Given the description of an element on the screen output the (x, y) to click on. 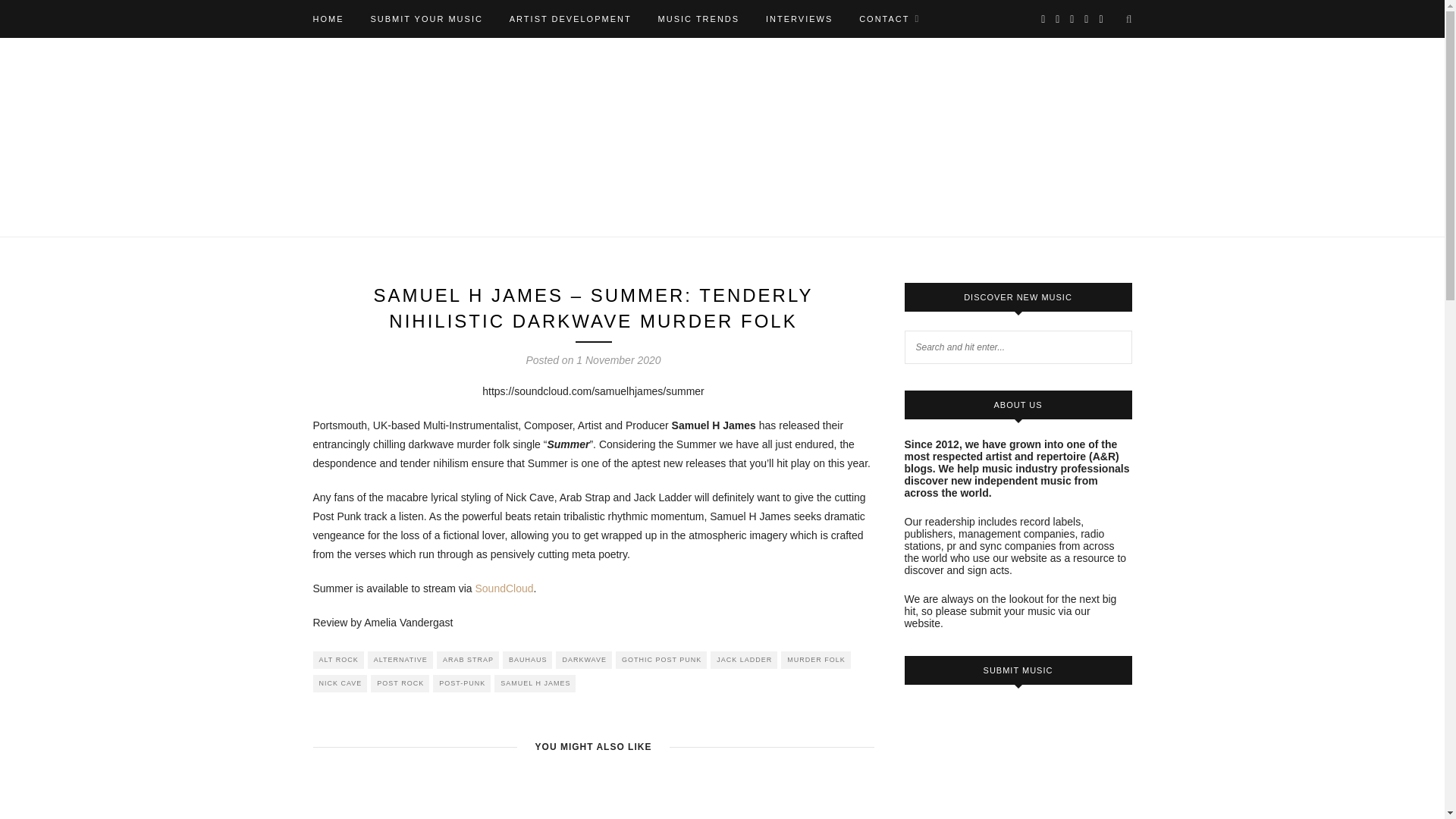
CONTACT (889, 18)
MURDER FOLK (815, 660)
INTERVIEWS (798, 18)
MUSIC TRENDS (698, 18)
POST-PUNK (461, 683)
POST ROCK (400, 683)
BAUHAUS (527, 660)
ARAB STRAP (467, 660)
ARTIST DEVELOPMENT (570, 18)
SUBMIT YOUR MUSIC (426, 18)
